Given the description of an element on the screen output the (x, y) to click on. 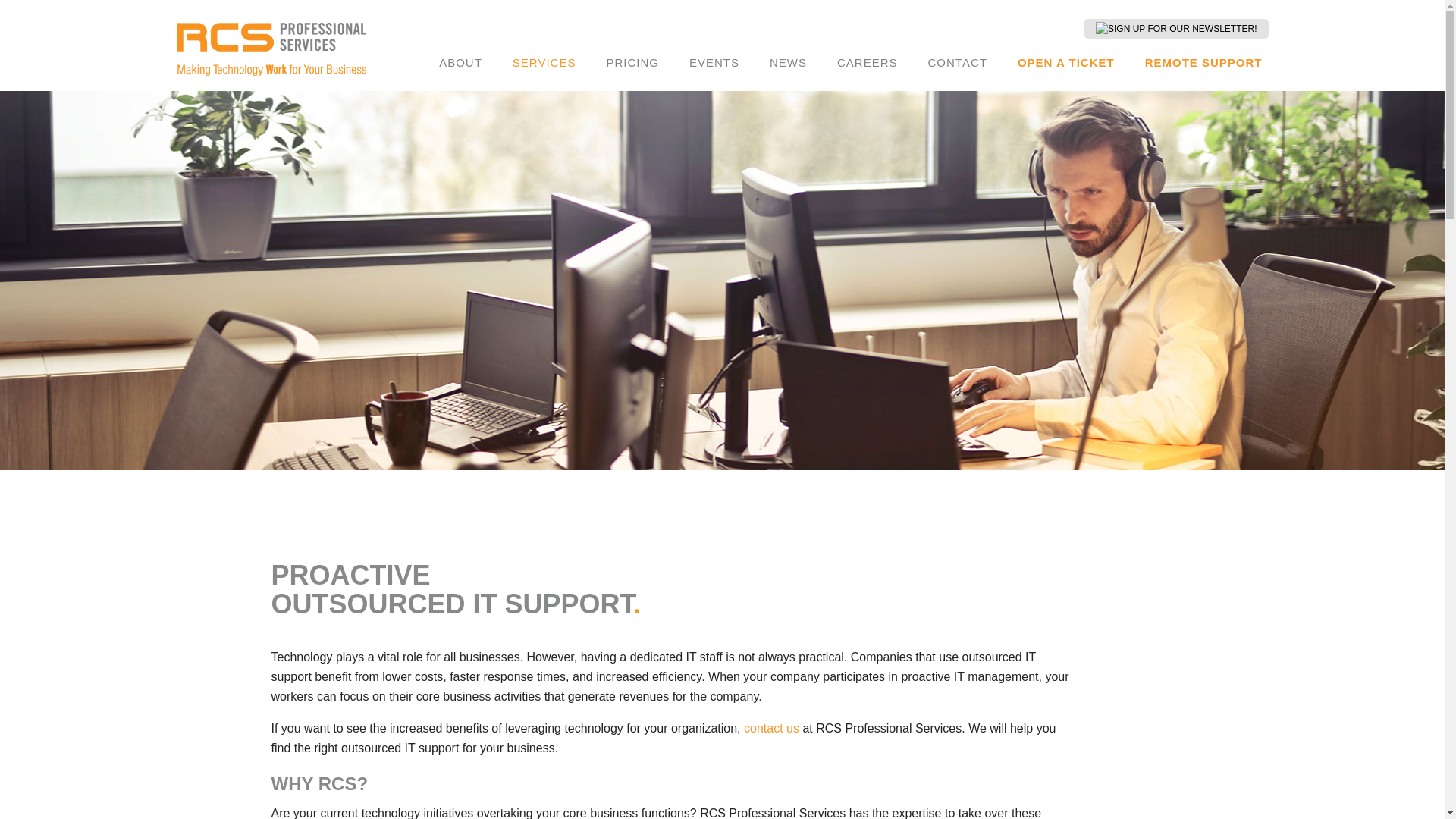
RCS Professional Services (270, 49)
SERVICES (544, 62)
ABOUT (459, 62)
